Given the description of an element on the screen output the (x, y) to click on. 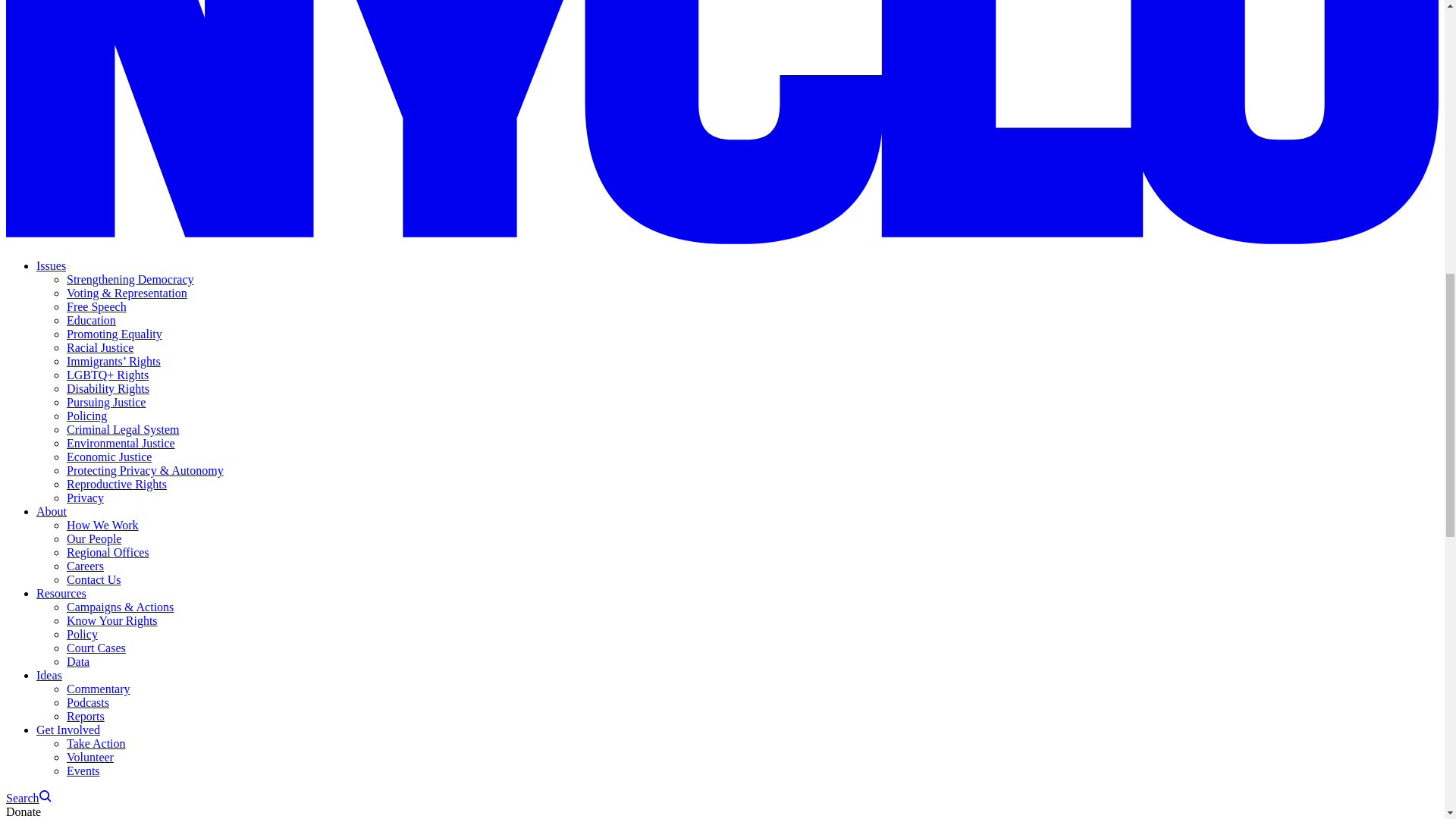
Free Speech (96, 306)
Know Your Rights (111, 620)
Disability Rights (107, 388)
Resources (60, 593)
Strengthening Democracy (129, 278)
Events (83, 770)
Data (77, 661)
Search (27, 797)
Get Involved (68, 729)
Careers (84, 565)
Racial Justice (99, 347)
Environmental Justice (120, 442)
Reports (85, 716)
Commentary (98, 688)
Regional Offices (107, 552)
